Given the description of an element on the screen output the (x, y) to click on. 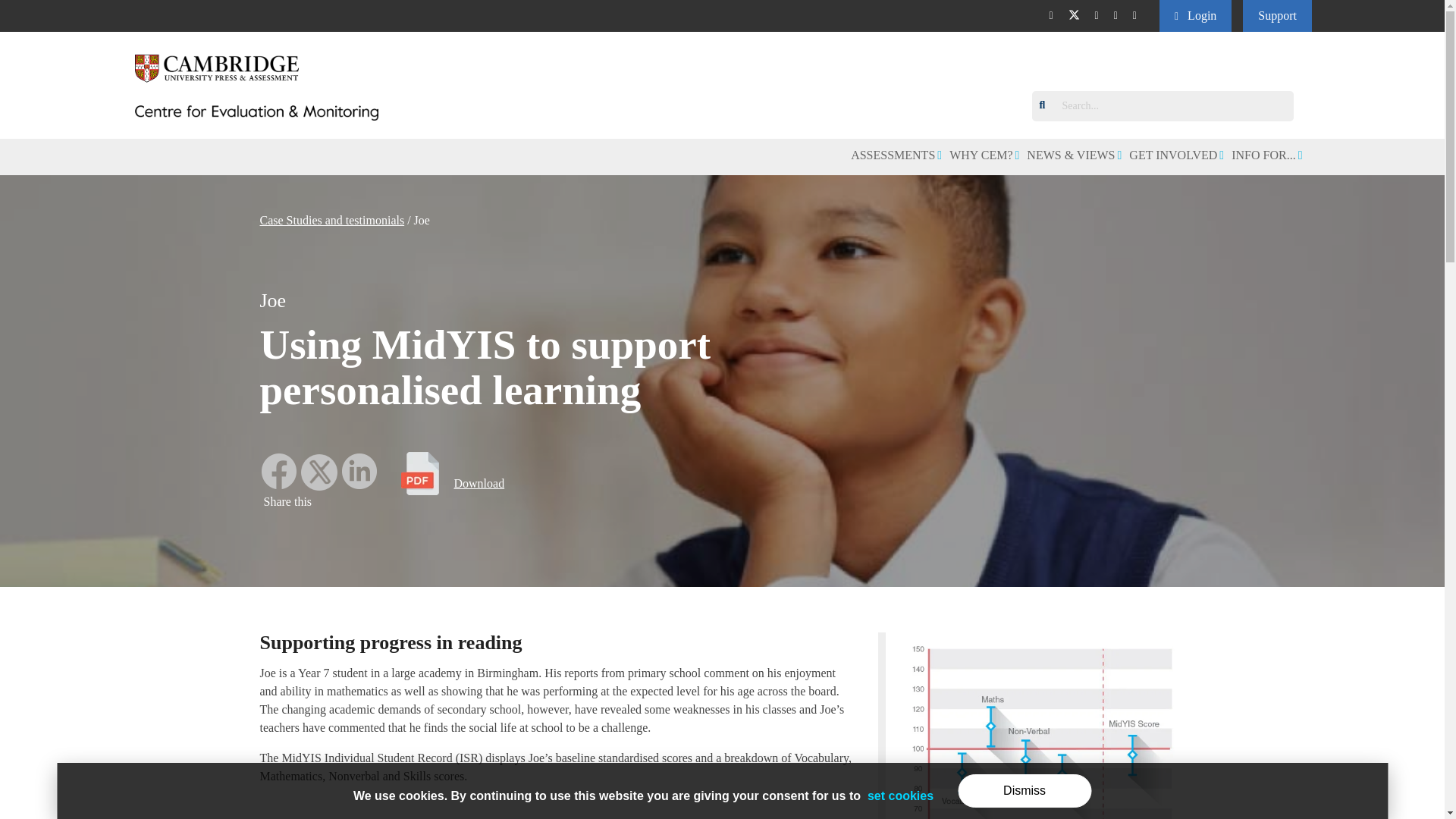
ASSESSMENTS (895, 154)
Share on Linkedin (358, 485)
  Login (1194, 15)
Support (1277, 15)
Share on Twitter (319, 485)
Share on Facebook (279, 485)
